Given the description of an element on the screen output the (x, y) to click on. 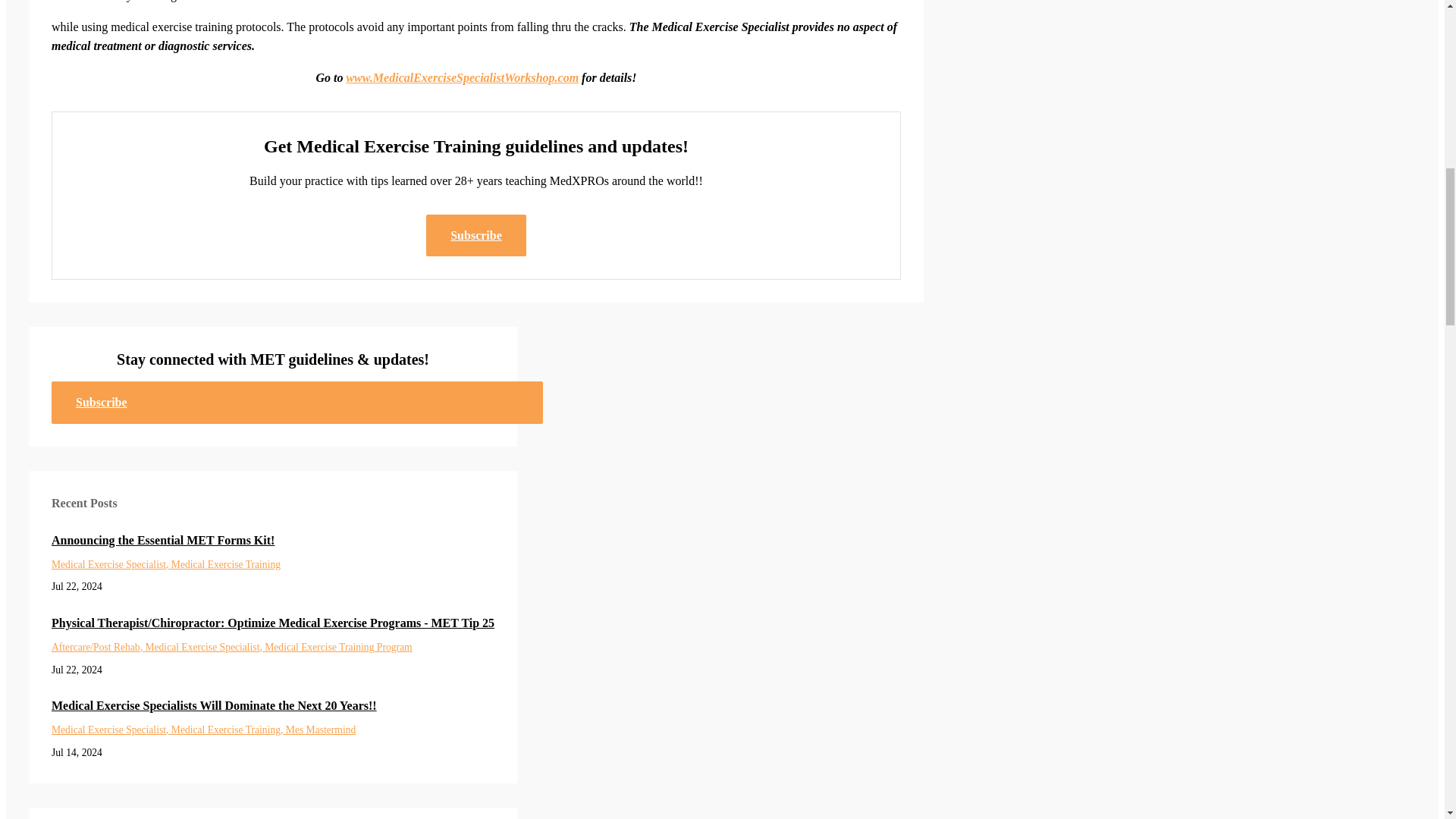
Medical Exercise Specialist (110, 729)
Medical Exercise Training (226, 564)
Medical Exercise Specialist (204, 646)
Medical Exercise Training (228, 729)
Mes Mastermind (320, 729)
Medical Exercise Training Program (338, 646)
Subscribe (296, 402)
Medical Exercise Specialist (110, 564)
Subscribe (475, 235)
Announcing the Essential MET Forms Kit! (272, 540)
www.MedicalExerciseSpecialistWorkshop.com (462, 77)
